Given the description of an element on the screen output the (x, y) to click on. 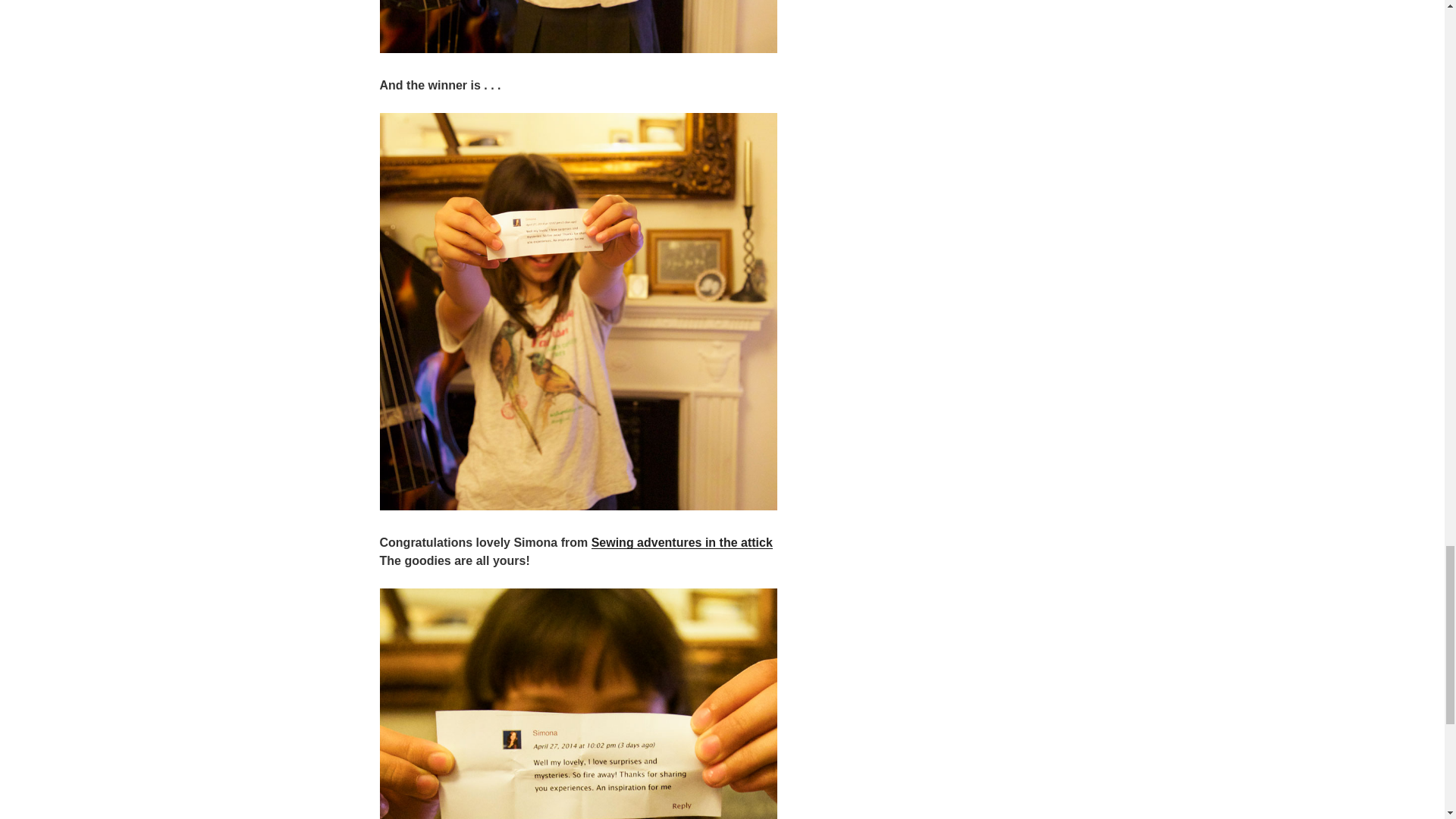
Sewing adventures in the attick (682, 542)
